Given the description of an element on the screen output the (x, y) to click on. 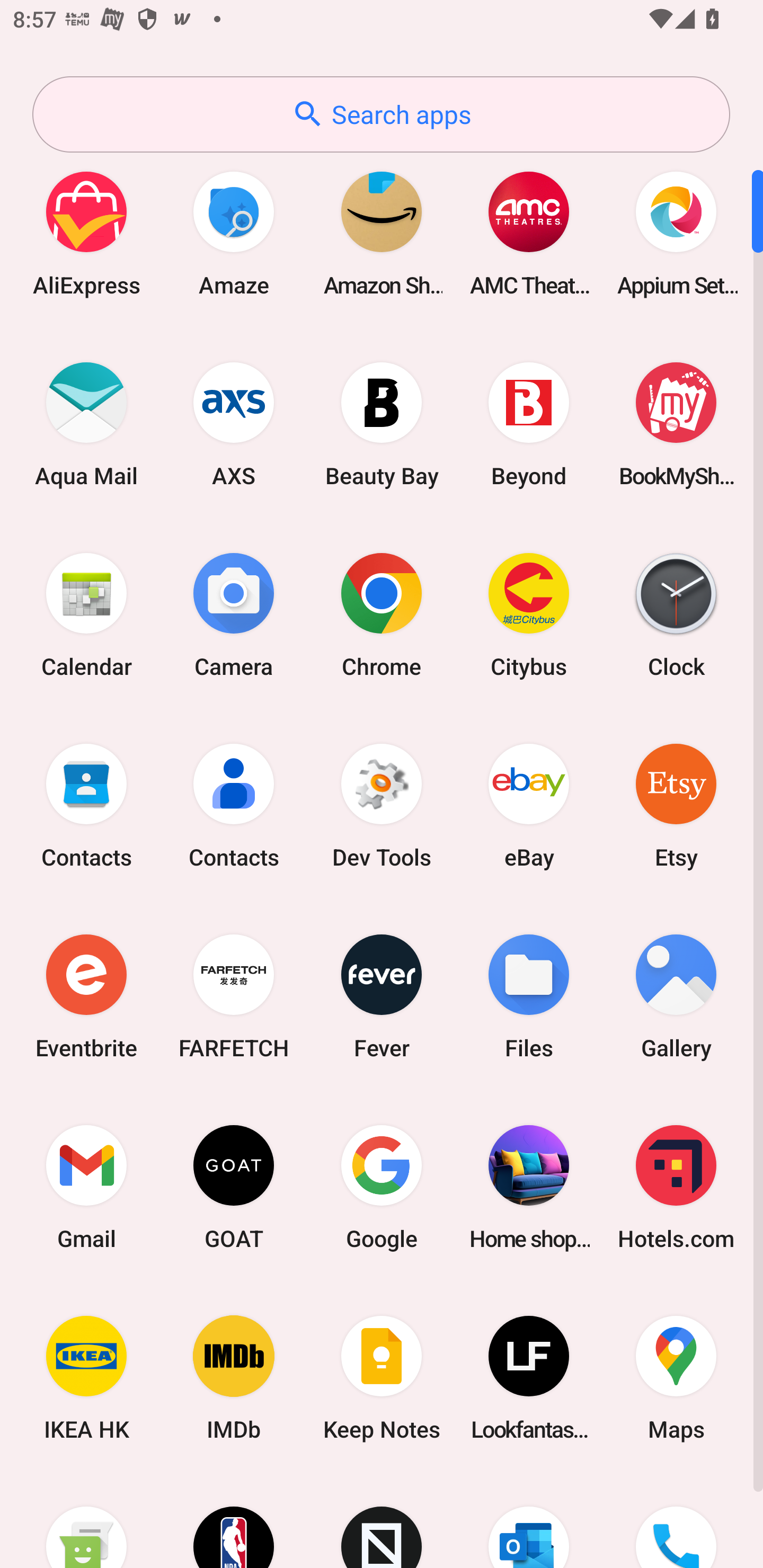
  Search apps (381, 114)
AliExpress (86, 233)
Amaze (233, 233)
Amazon Shopping (381, 233)
AMC Theatres (528, 233)
Appium Settings (676, 233)
Aqua Mail (86, 424)
AXS (233, 424)
Beauty Bay (381, 424)
Beyond (528, 424)
BookMyShow (676, 424)
Calendar (86, 614)
Camera (233, 614)
Chrome (381, 614)
Citybus (528, 614)
Clock (676, 614)
Contacts (86, 805)
Contacts (233, 805)
Dev Tools (381, 805)
eBay (528, 805)
Etsy (676, 805)
Eventbrite (86, 996)
FARFETCH (233, 996)
Fever (381, 996)
Files (528, 996)
Gallery (676, 996)
Gmail (86, 1186)
GOAT (233, 1186)
Google (381, 1186)
Home shopping (528, 1186)
Hotels.com (676, 1186)
IKEA HK (86, 1377)
IMDb (233, 1377)
Keep Notes (381, 1377)
Lookfantastic (528, 1377)
Maps (676, 1377)
